Given the description of an element on the screen output the (x, y) to click on. 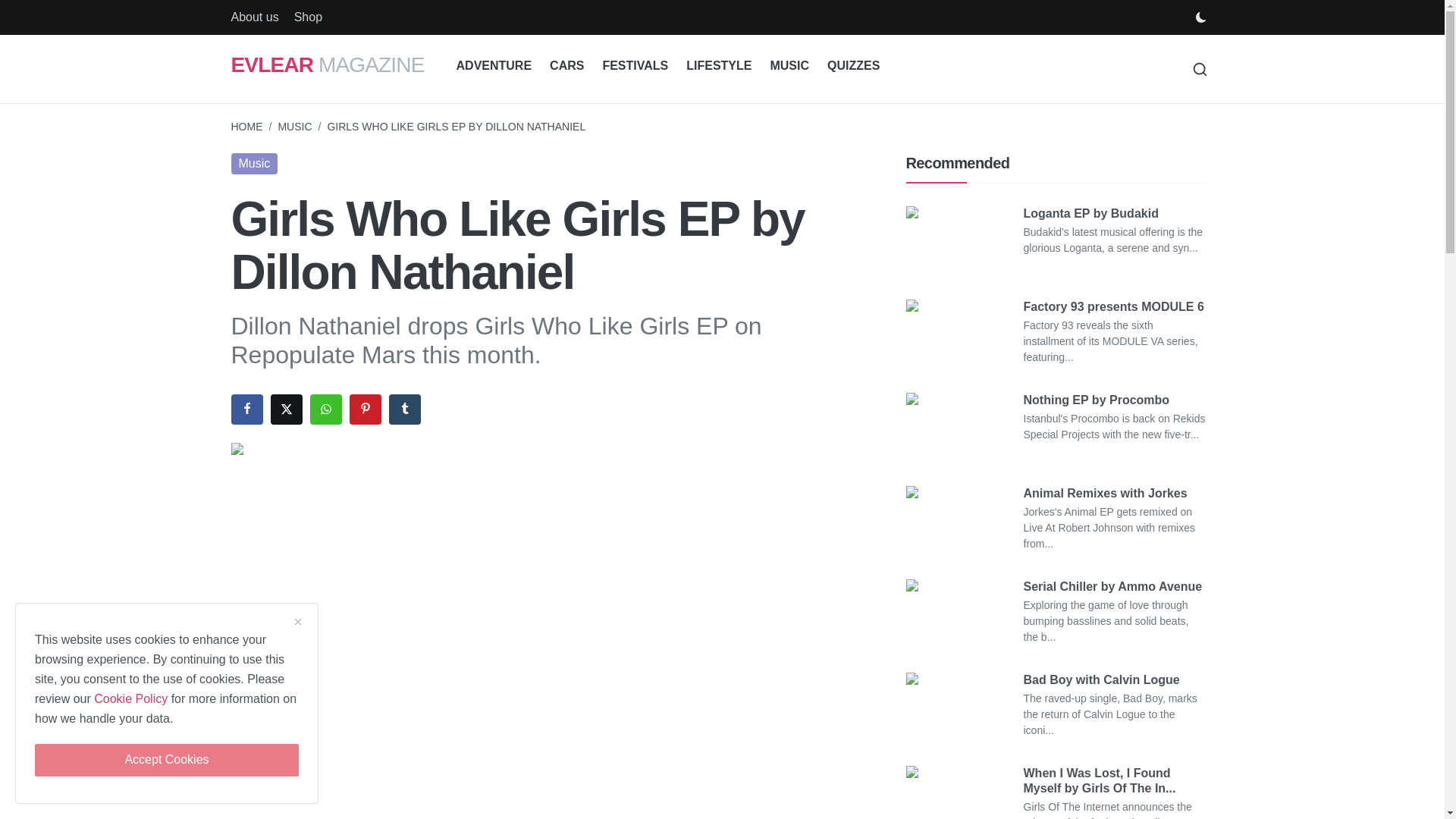
dark (1200, 17)
QUIZZES (853, 66)
Music (254, 163)
Quizzes (853, 66)
ADVENTURE (493, 66)
Shop (307, 17)
LIFESTYLE (718, 66)
FESTIVALS (634, 66)
Adventure (493, 66)
About us (254, 17)
